Given the description of an element on the screen output the (x, y) to click on. 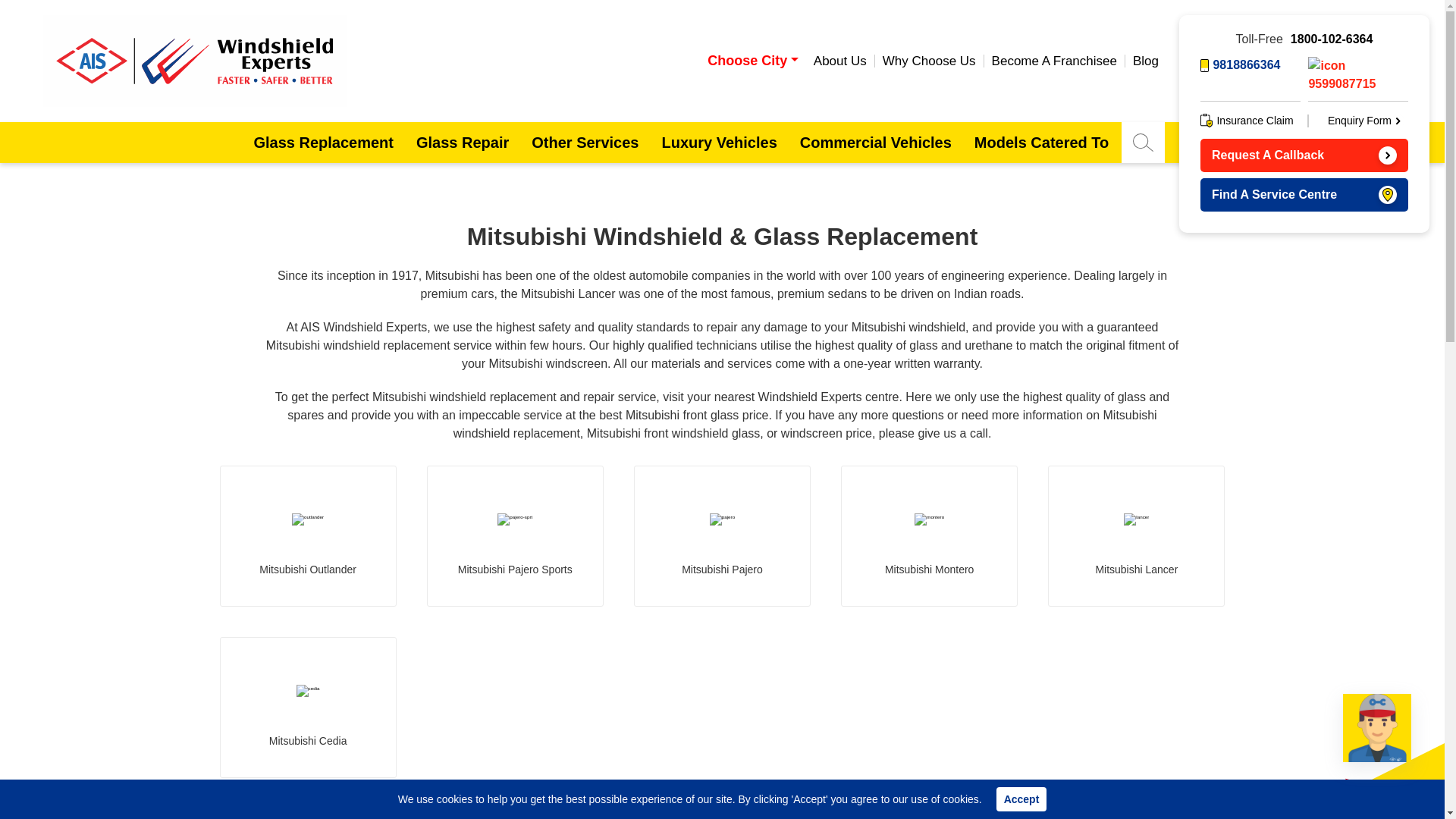
Choose City (752, 60)
Other Services (584, 142)
Glass Repair (461, 142)
Blog (1145, 60)
About Us (840, 60)
Why Choose Us (929, 60)
Become A Franchisee (1054, 60)
Models Catered To (1040, 142)
Luxury Vehicles (718, 142)
Commercial Vehicles (875, 142)
